Given the description of an element on the screen output the (x, y) to click on. 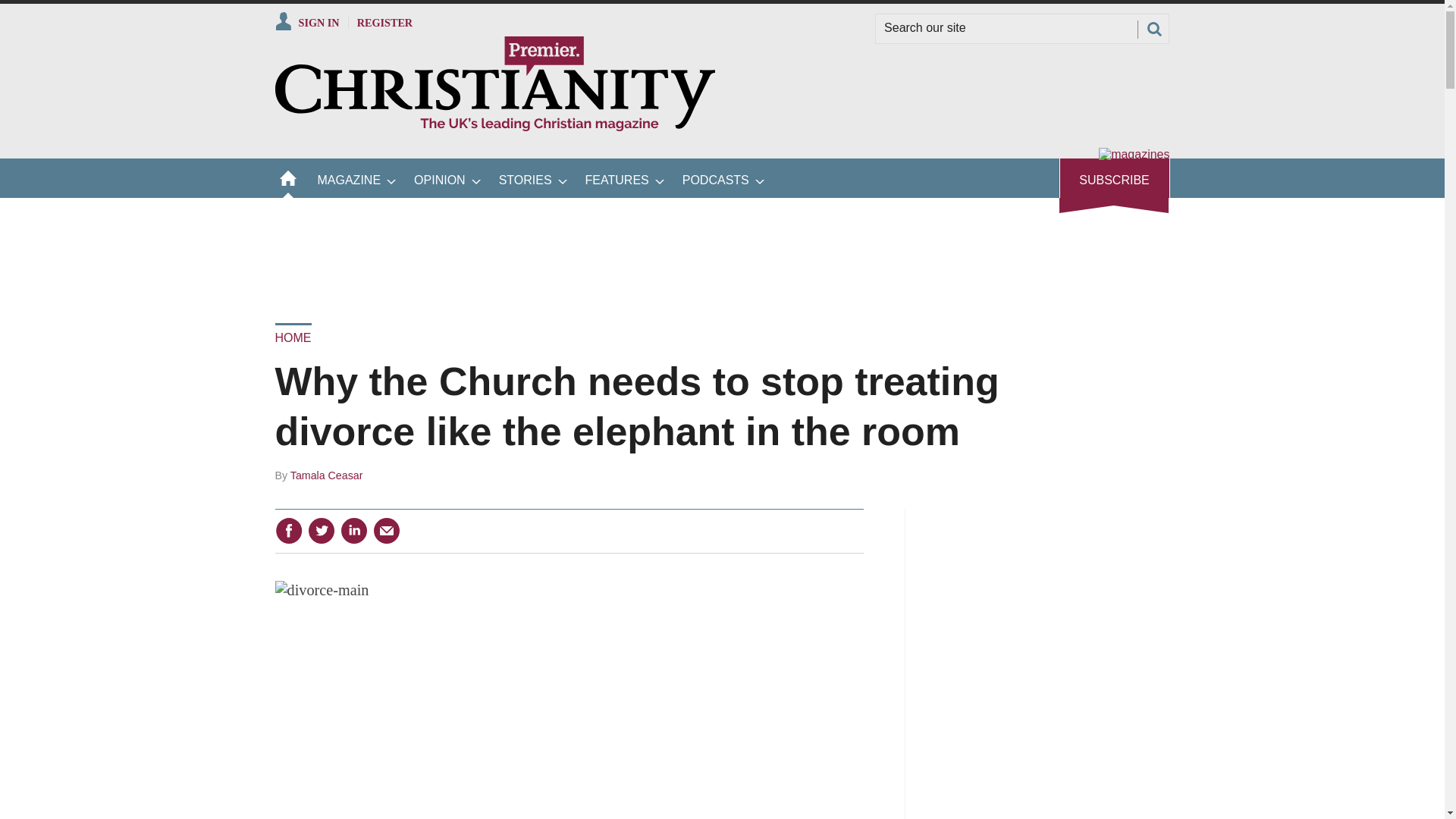
Share this on Facebook (288, 530)
Site name (494, 126)
Share this on Linked in (352, 530)
SEARCH (1153, 28)
SIGN IN (307, 22)
Email this article (386, 530)
REGISTER (384, 22)
Share this on Twitter (320, 530)
